Given the description of an element on the screen output the (x, y) to click on. 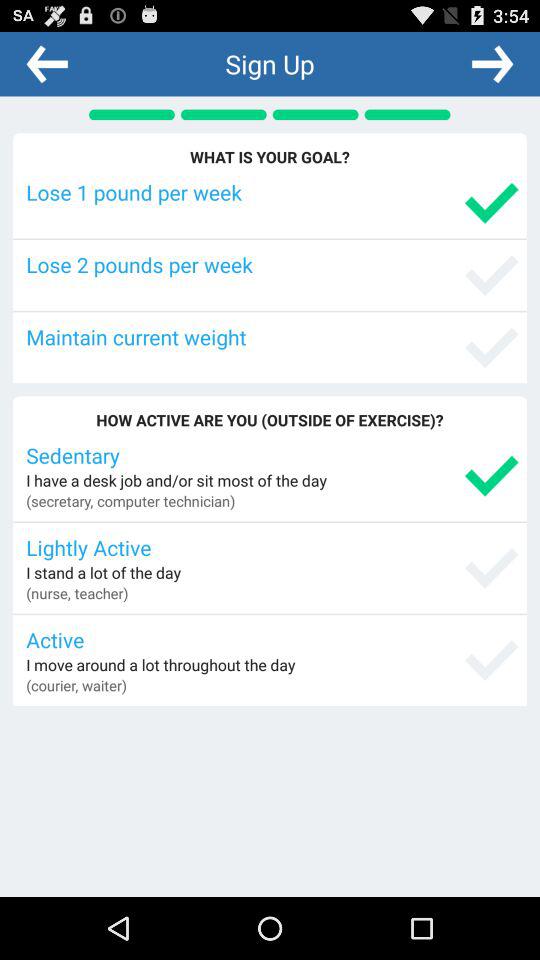
click the icon to the right of sign up item (492, 63)
